Given the description of an element on the screen output the (x, y) to click on. 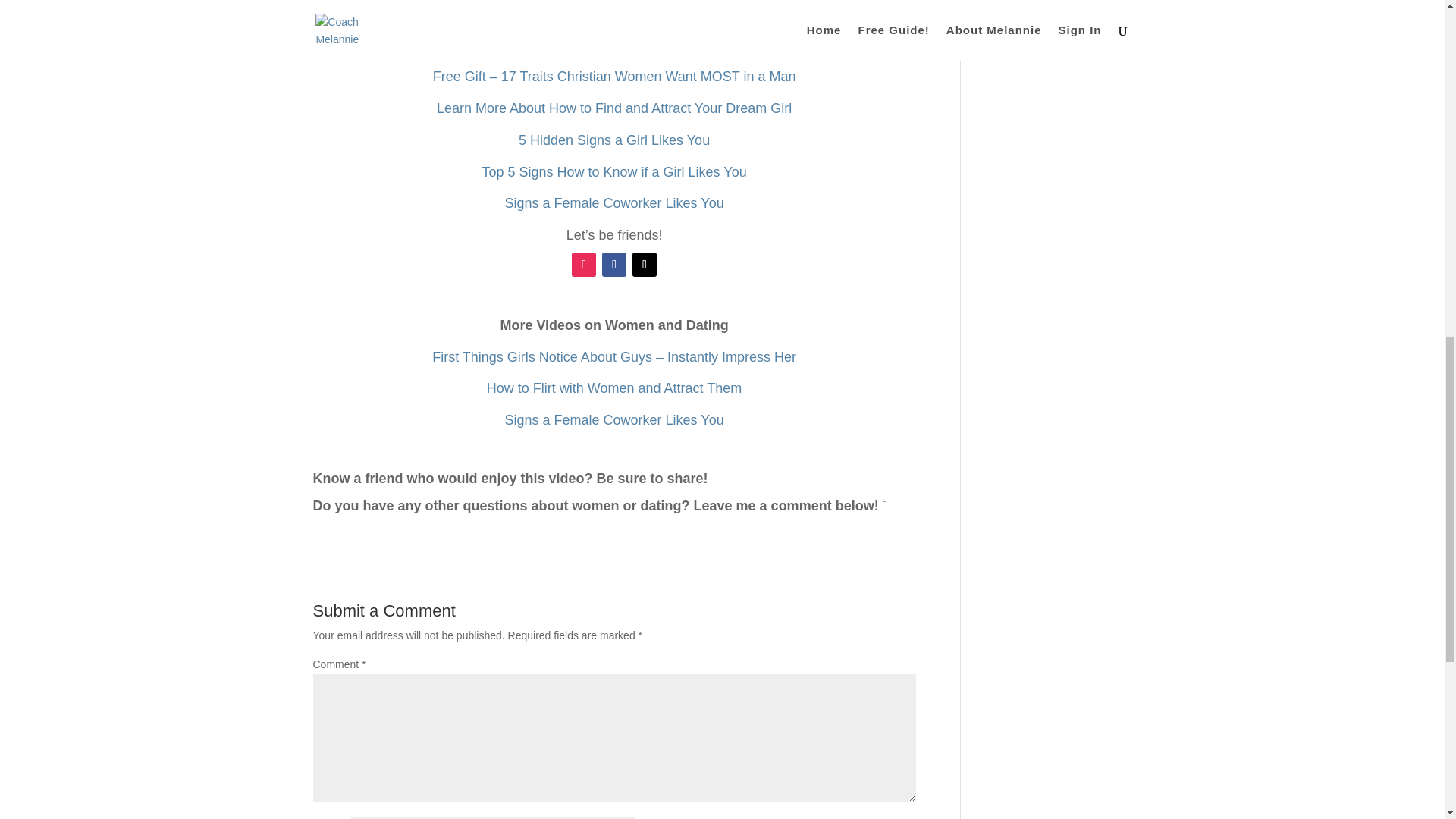
5 Hidden Signs a Girl Likes You (614, 140)
Top 5 Signs How to Know if a Girl Likes You (613, 171)
Signs a Female Coworker Likes You (614, 419)
Follow on Instagram (583, 264)
Learn More About How to Find and Attract Your Dream Girl (614, 108)
How to Flirt with Women and Attract Them (613, 387)
Signs a Female Coworker Likes You (614, 202)
Follow on Facebook (614, 264)
Follow on X (643, 264)
